Given the description of an element on the screen output the (x, y) to click on. 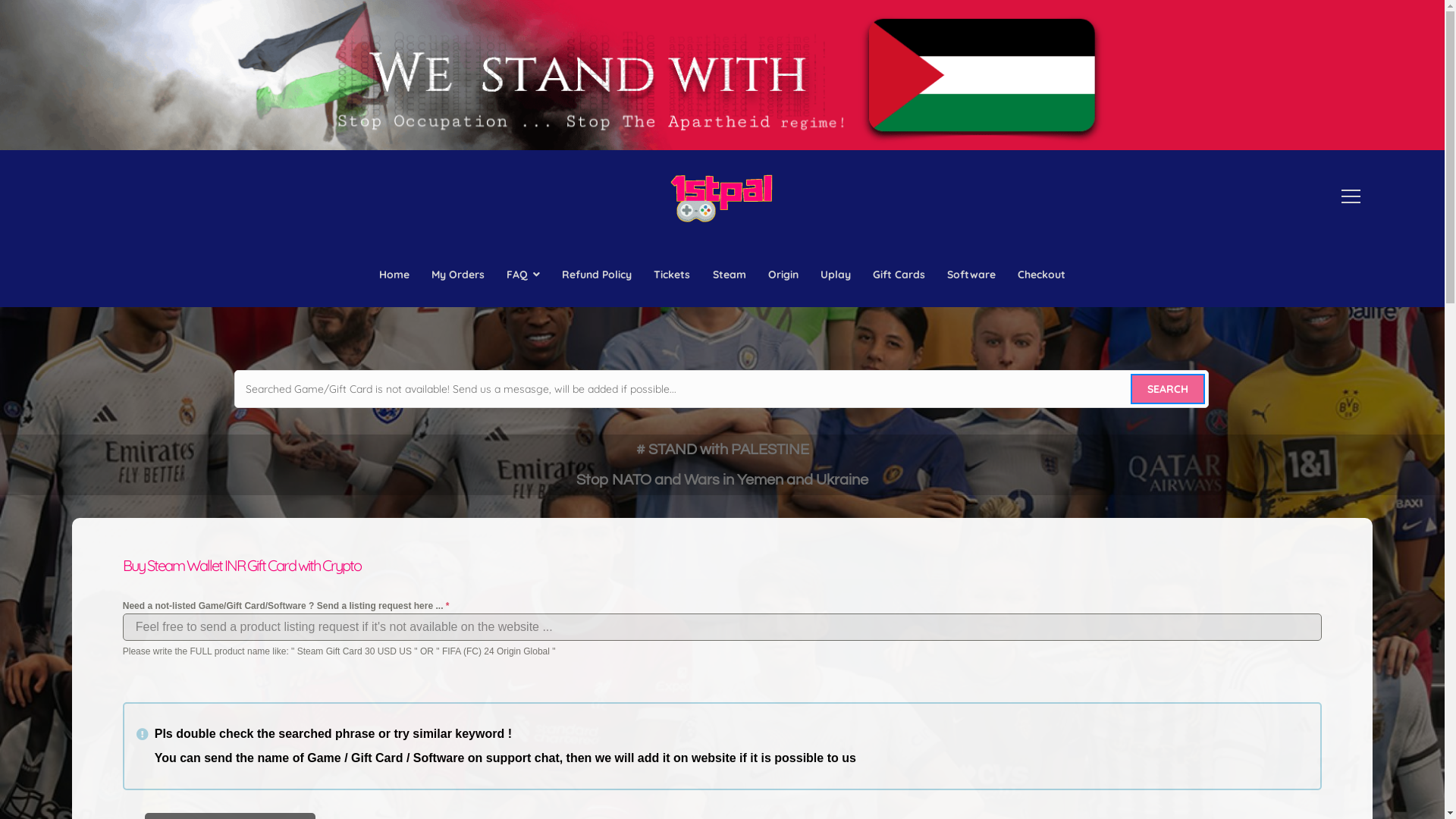
Gift Cards Element type: text (898, 274)
SEARCH Element type: text (1167, 388)
Origin Element type: text (782, 274)
Refund Policy Element type: text (596, 274)
Tickets Element type: text (671, 274)
Software Element type: text (971, 274)
FAQ Element type: text (523, 274)
Steam Element type: text (729, 274)
Checkout Element type: text (1041, 274)
Home Element type: text (393, 274)
My Orders Element type: text (457, 274)
Uplay Element type: text (834, 274)
